Given the description of an element on the screen output the (x, y) to click on. 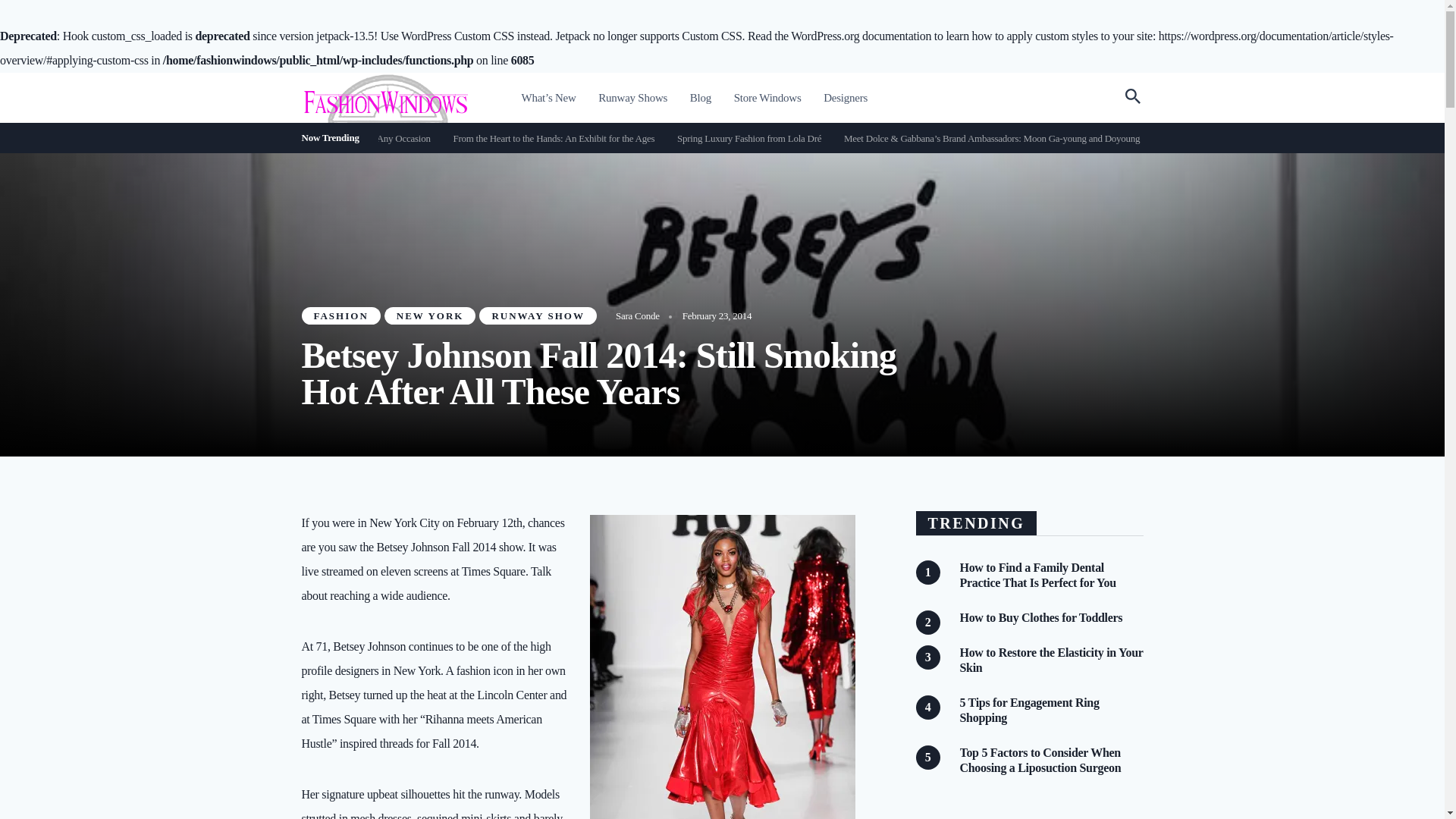
Posts by Sara Conde (637, 315)
The Art of Choosing the Perfect Suit for Any Occasion (452, 138)
From the Heart to the Hands: An Exhibit for the Ages (677, 138)
The Art of Choosing the Perfect Suit for Any Occasion (413, 138)
Designers (845, 97)
Sara Conde (637, 315)
Store Windows (767, 97)
View all posts in Runway Show (537, 315)
RUNWAY SHOW (537, 315)
From the Heart to the Hands: An Exhibit for the Ages (637, 138)
Runway Shows (632, 97)
View all posts in New York (430, 315)
NEW YORK (430, 315)
FASHION (340, 315)
View all posts in Fashion (340, 315)
